Given the description of an element on the screen output the (x, y) to click on. 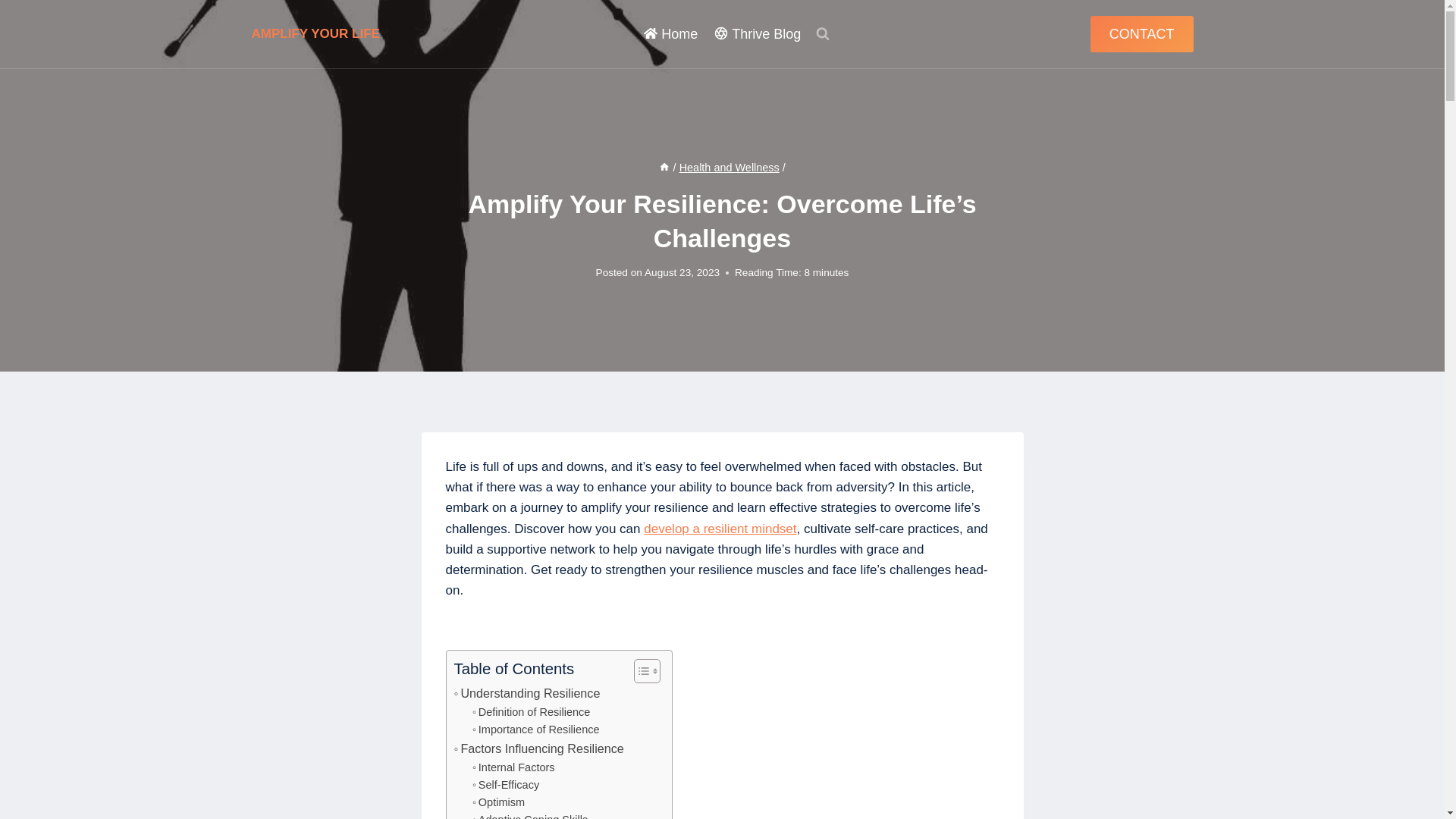
Self-Efficacy (504, 784)
Importance of Resilience (535, 729)
Definition of Resilience (531, 712)
Internal Factors (512, 766)
Internal Factors (512, 766)
Factors Influencing Resilience (537, 749)
Optimism (497, 802)
Definition of Resilience (531, 712)
Understanding Resilience (525, 693)
